Given the description of an element on the screen output the (x, y) to click on. 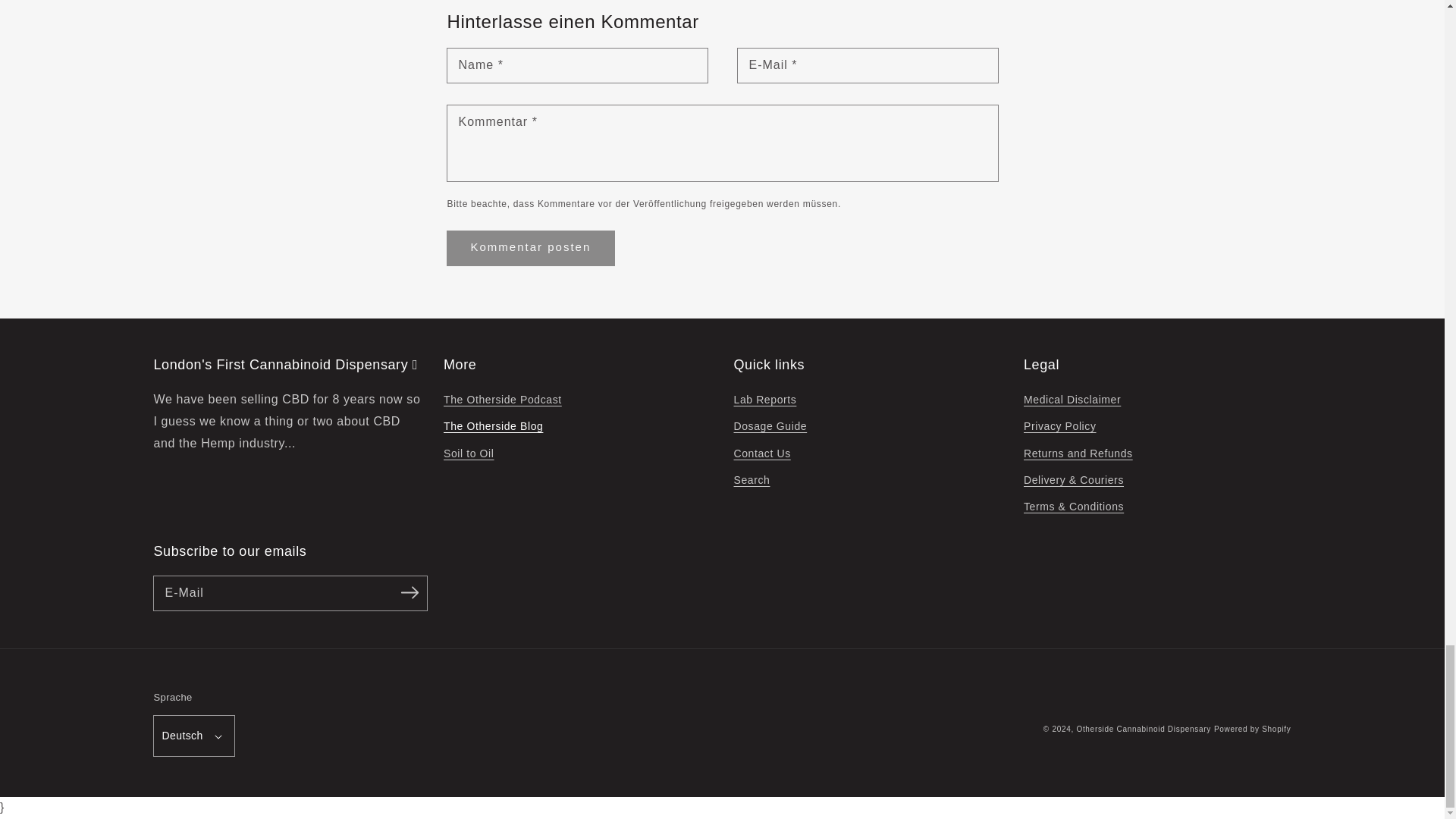
Kommentar posten (530, 247)
